Given the description of an element on the screen output the (x, y) to click on. 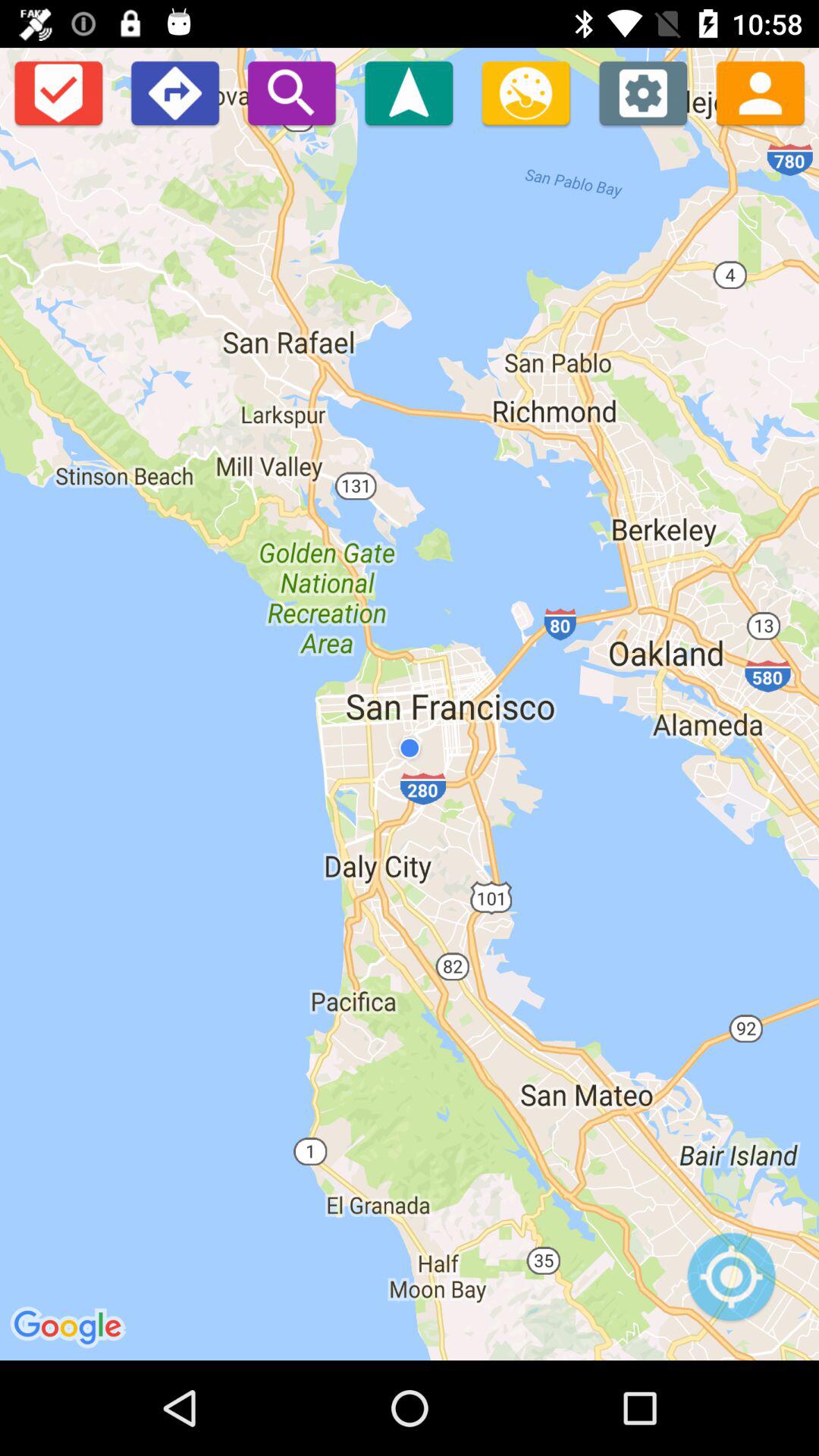
go to search (291, 92)
